Given the description of an element on the screen output the (x, y) to click on. 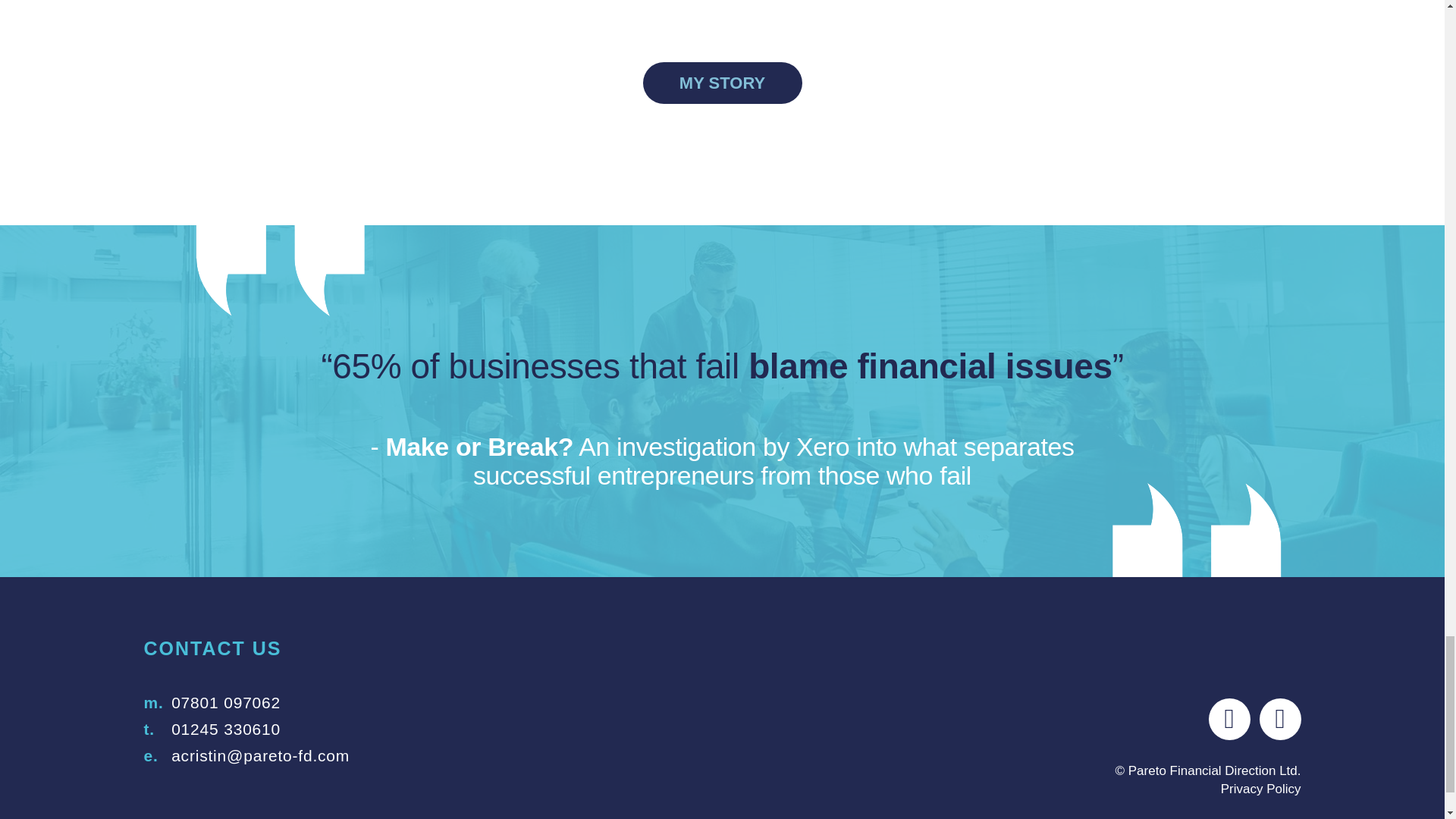
07801 097062 (226, 702)
My story (722, 83)
Call us (226, 702)
Mail us (260, 755)
Privacy Policy (1261, 789)
Call us (226, 728)
MY STORY (722, 83)
01245 330610 (226, 728)
